Given the description of an element on the screen output the (x, y) to click on. 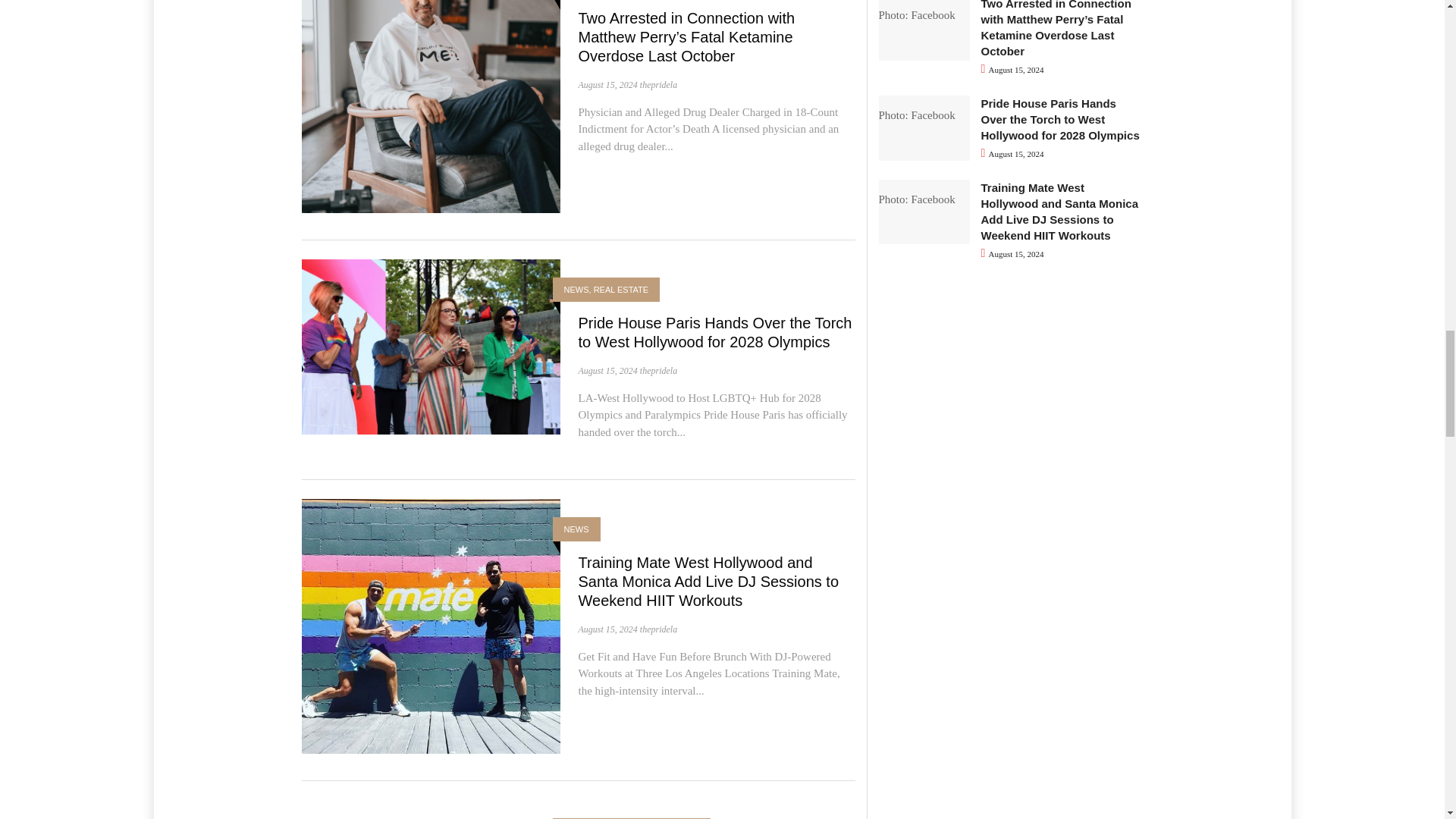
Posts by thepridela (658, 84)
Posts by thepridela (658, 370)
